Given the description of an element on the screen output the (x, y) to click on. 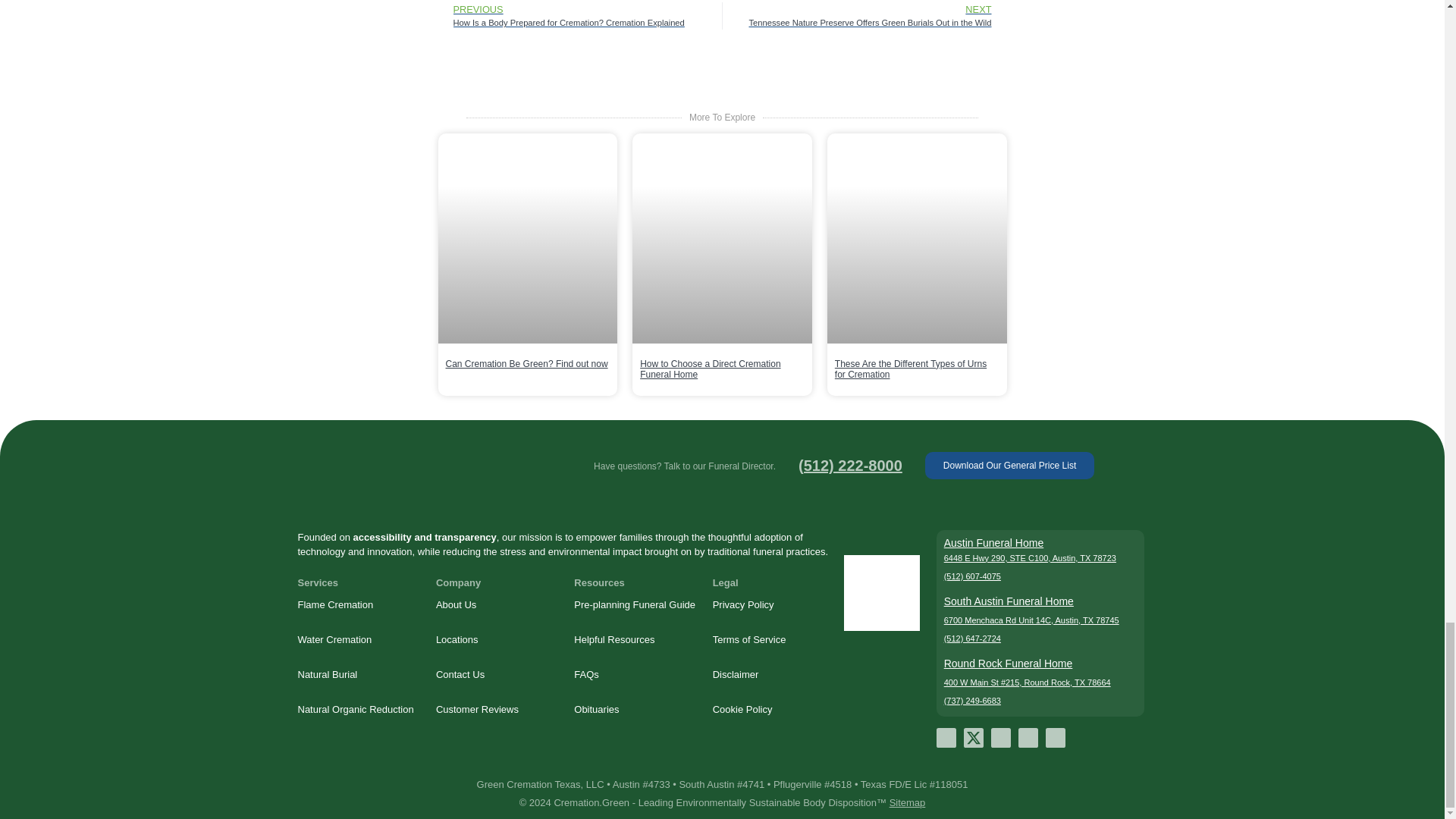
Can Cremation Be Green? Find out now (526, 363)
How to Choose a Direct Cremation Funeral Home (710, 369)
Download Our General Price List (1009, 465)
Natural Organic Reduction (358, 709)
Water Cremation (358, 639)
Natural Burial (358, 674)
Flame Cremation (358, 605)
These Are the Different Types of Urns for Cremation (910, 369)
